Given the description of an element on the screen output the (x, y) to click on. 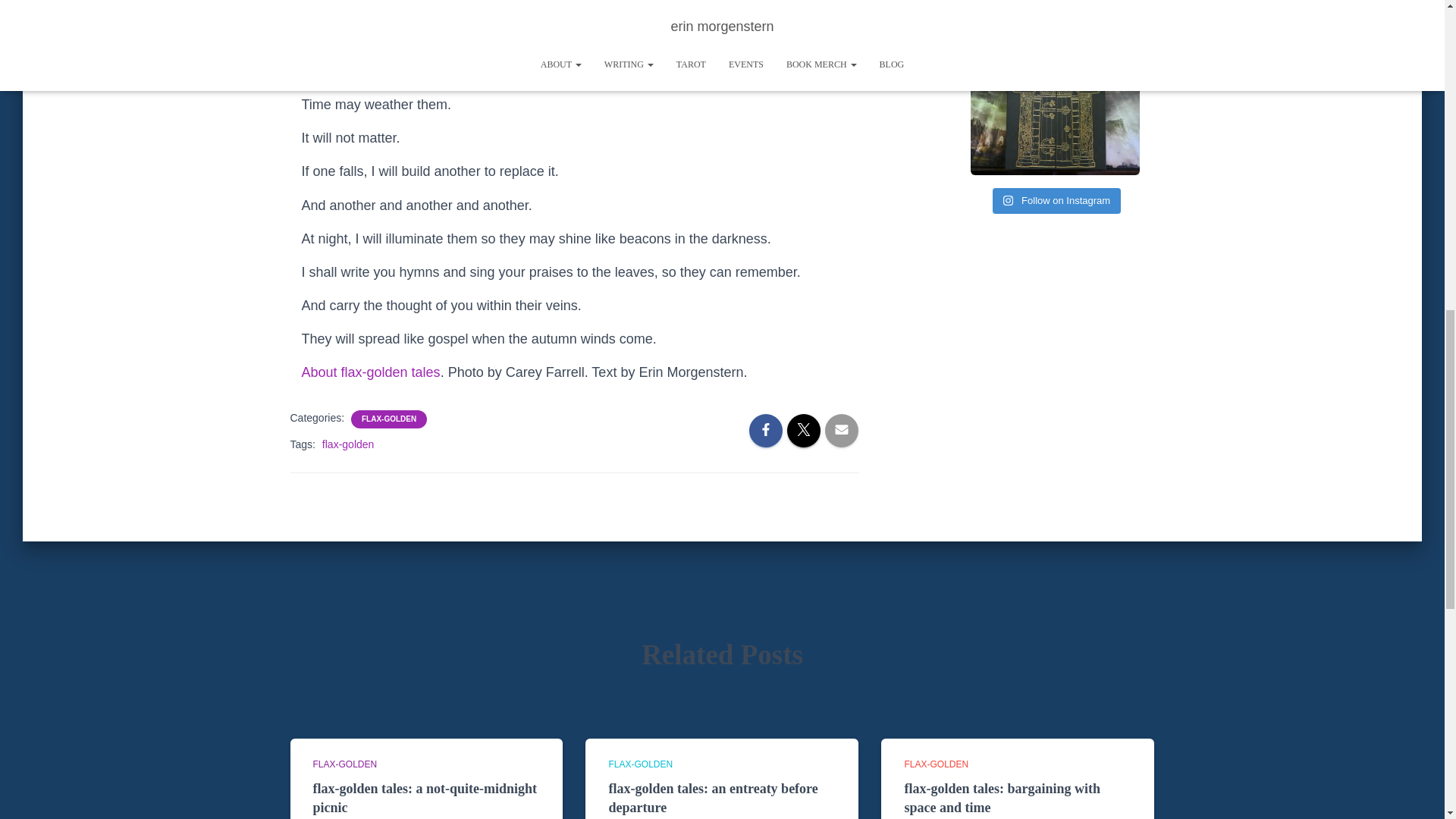
FLAX-GOLDEN (345, 764)
Follow on Instagram (1056, 200)
About flax-golden tales (371, 372)
FLAX-GOLDEN (640, 764)
FLAX-GOLDEN (388, 419)
flax-golden tales: an entreaty before departure (712, 797)
flax-golden (347, 444)
flax-golden tales: bargaining with space and time (1002, 797)
FLAX-GOLDEN (936, 764)
flax-golden tales: a not-quite-midnight picnic (425, 797)
